Given the description of an element on the screen output the (x, y) to click on. 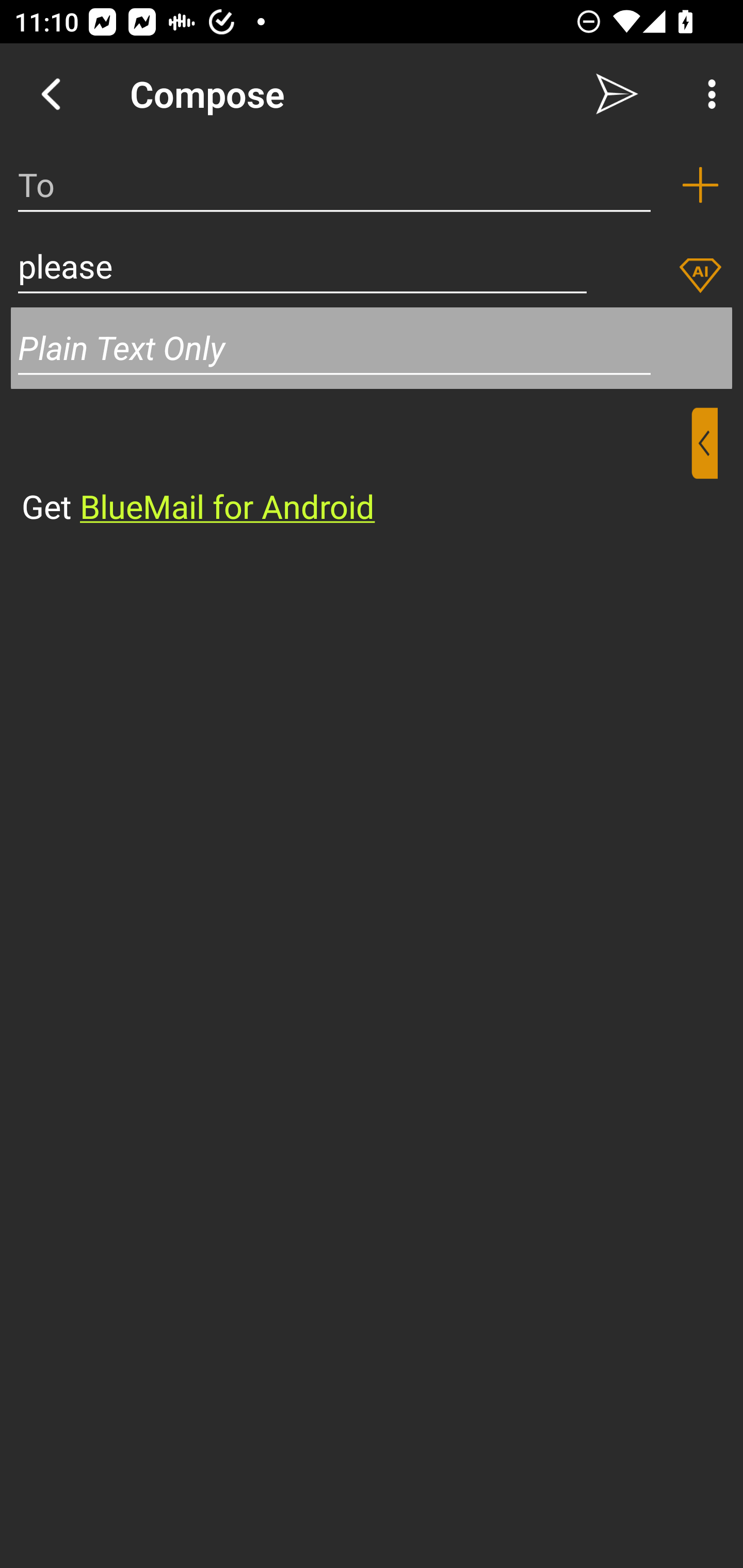
Navigate up (50, 93)
Send (616, 93)
More Options (706, 93)
To (334, 184)
Add recipient (To) (699, 184)
please (302, 266)
Plain Text Only (371, 347)


⁣Get BlueMail for Android ​ (355, 468)
